Given the description of an element on the screen output the (x, y) to click on. 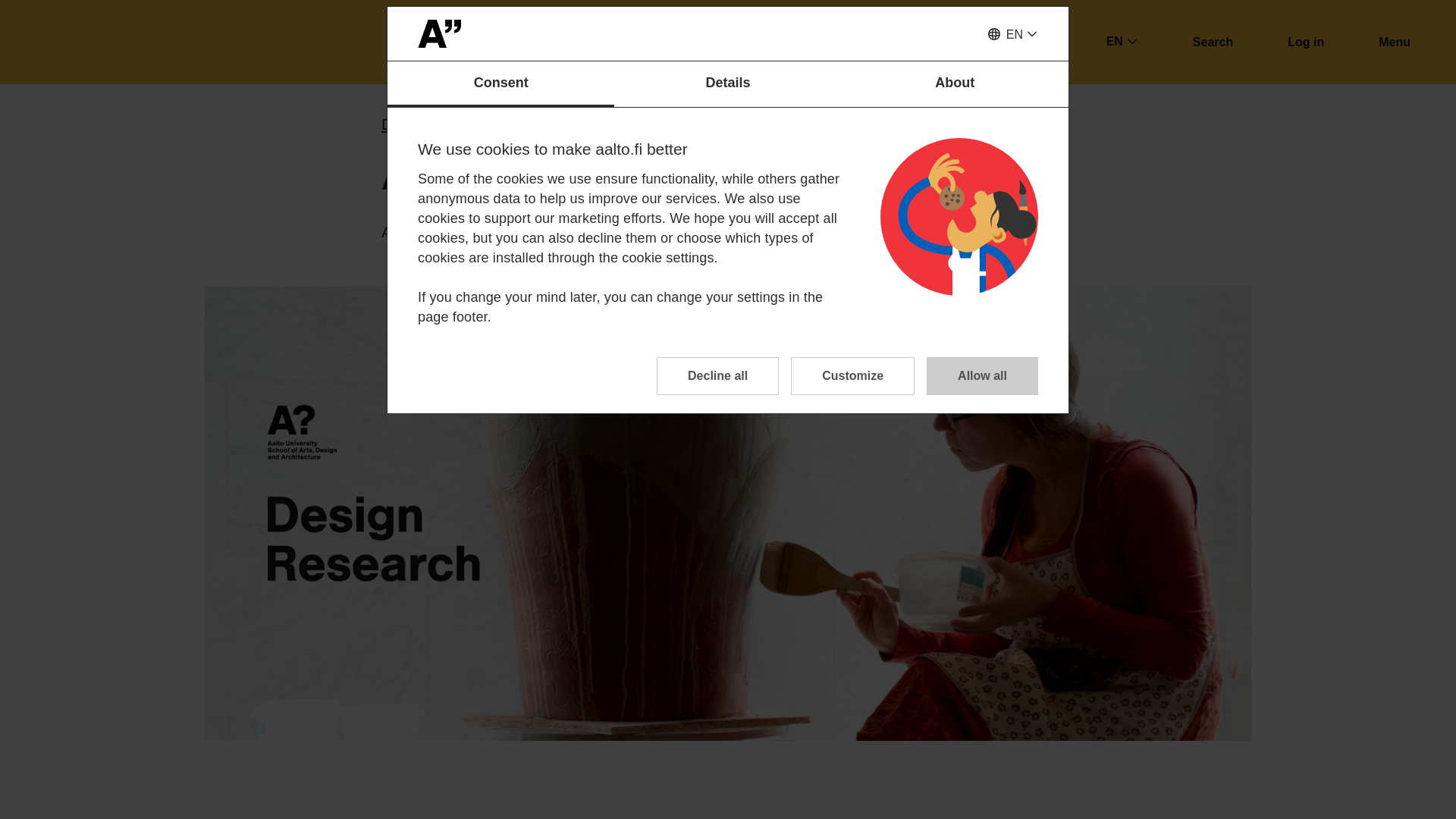
Details (727, 84)
EN (1011, 34)
About (954, 84)
Consent (500, 84)
